Given the description of an element on the screen output the (x, y) to click on. 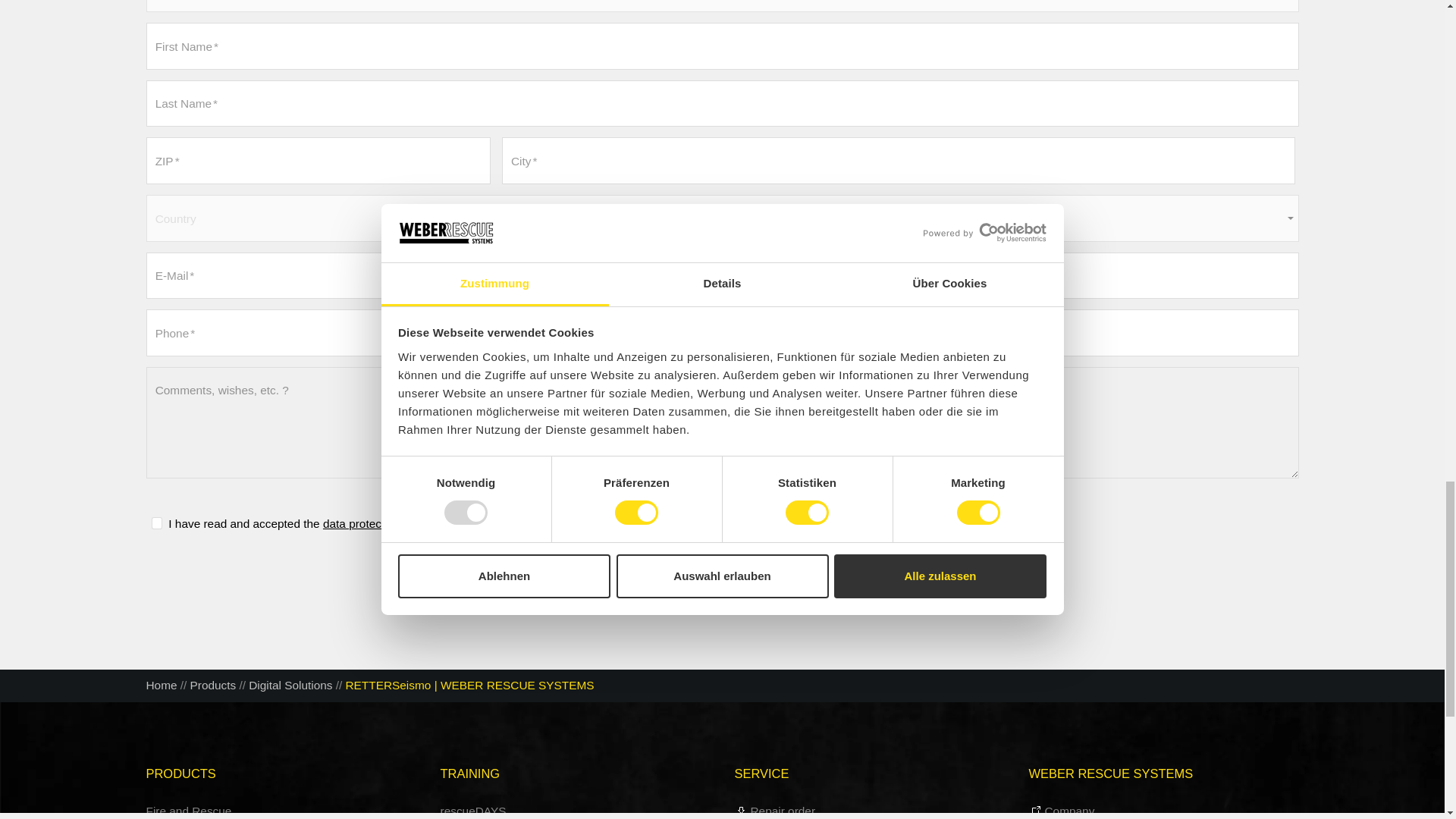
Data protection accepted: Yes (156, 522)
